Given the description of an element on the screen output the (x, y) to click on. 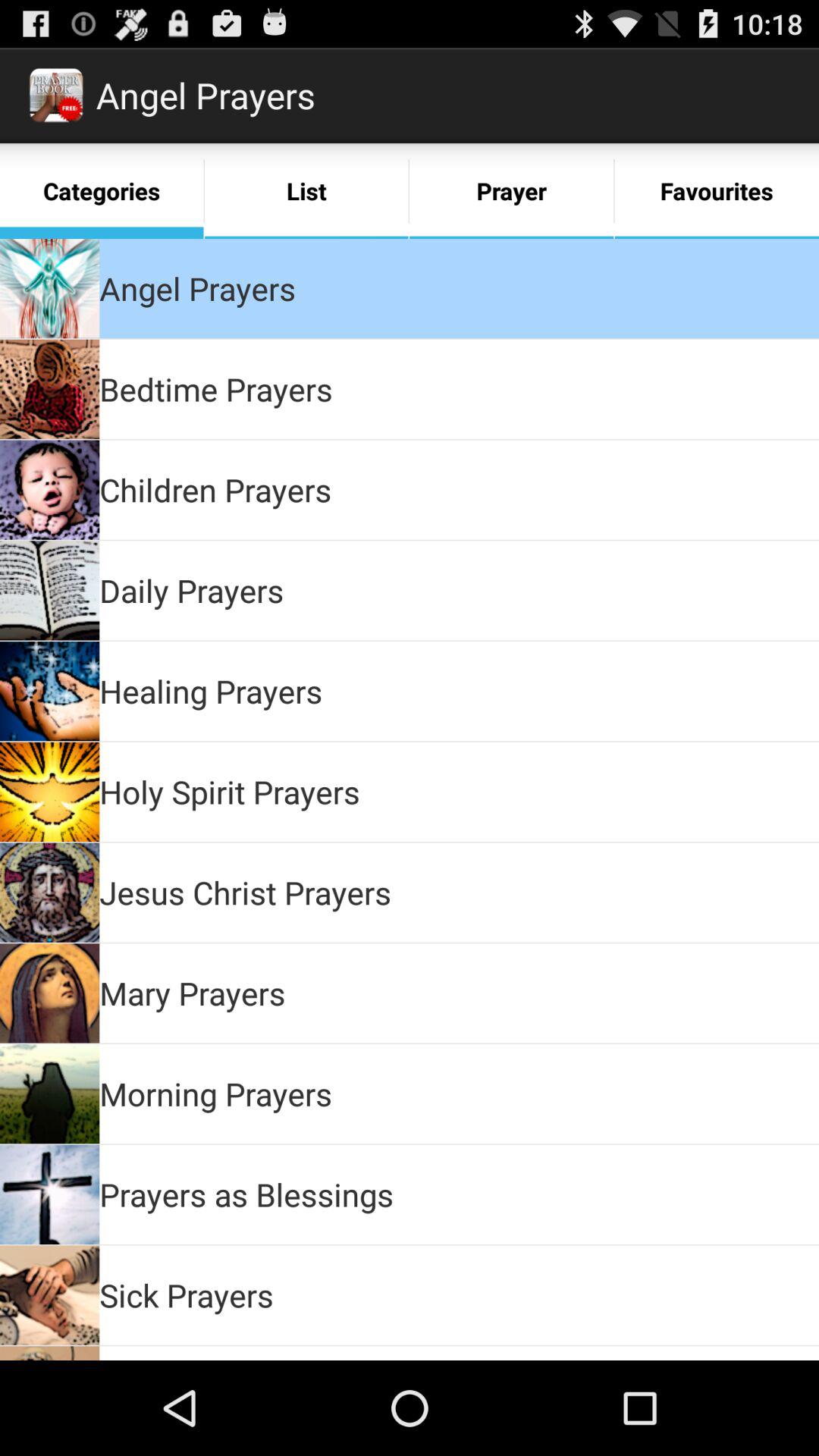
tap prayers as blessings icon (246, 1193)
